Given the description of an element on the screen output the (x, y) to click on. 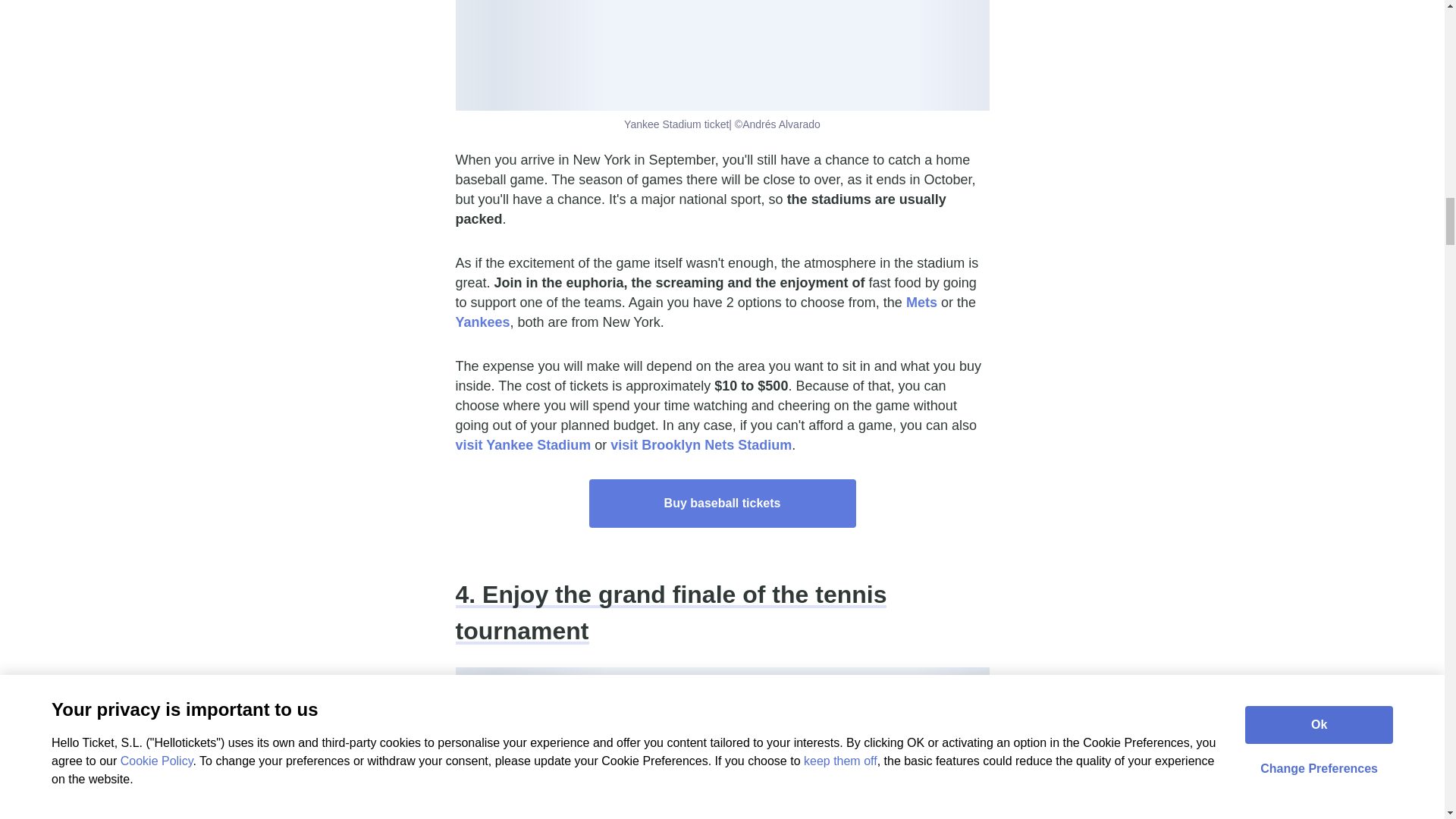
visit Yankee Stadium (522, 444)
visit Brooklyn Nets Stadium (701, 444)
Buy baseball tickets (722, 503)
Yankees (481, 322)
Mets (921, 302)
